Given the description of an element on the screen output the (x, y) to click on. 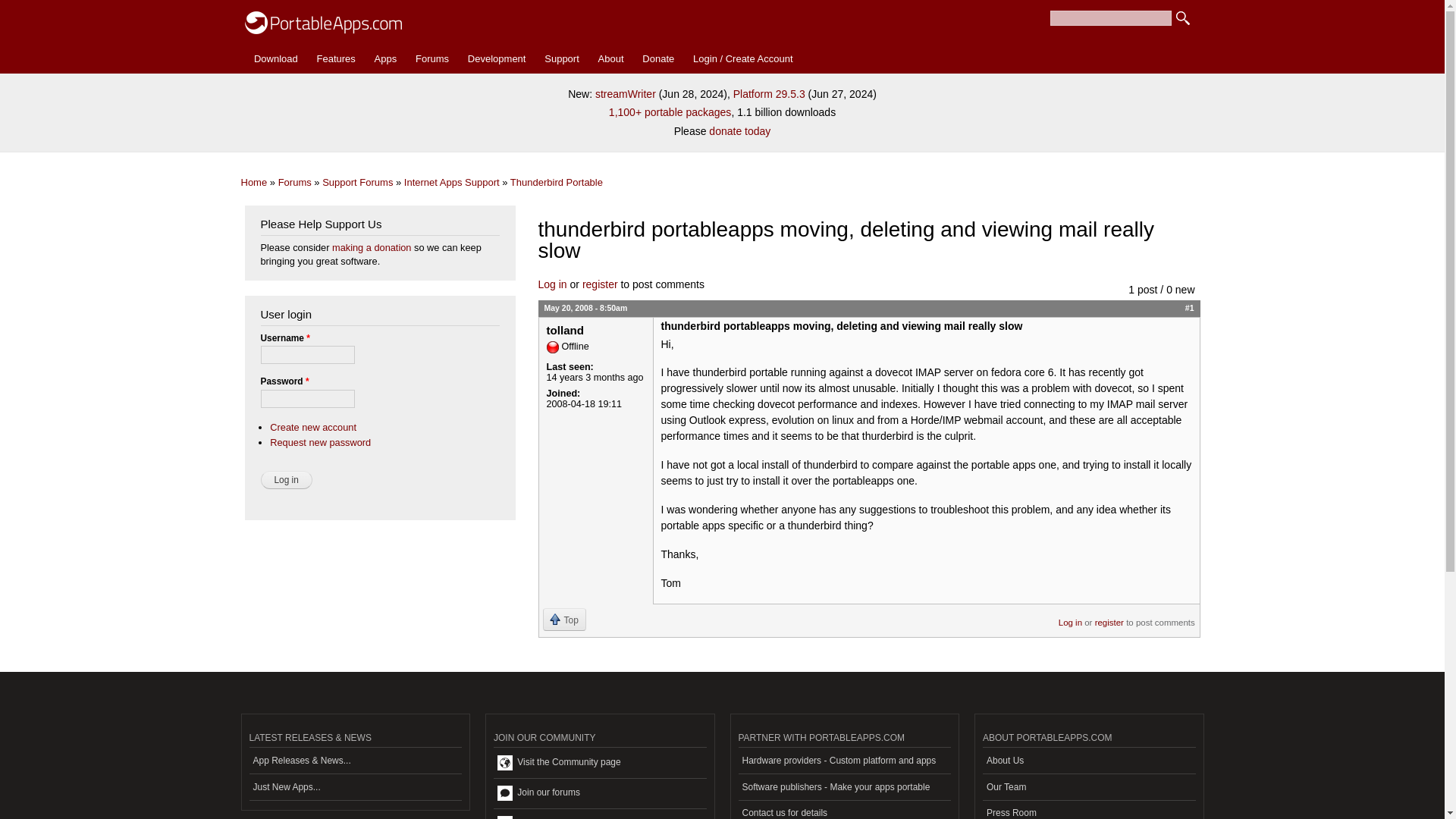
Home (254, 182)
Log in (286, 479)
Skip to main content (690, 1)
Request new password via e-mail. (320, 441)
donate today (739, 131)
Log in (552, 284)
Forums (294, 182)
About (610, 59)
Log in (286, 479)
streamWriter (625, 93)
making a donation (370, 247)
Development (496, 59)
Email Newsletter (599, 814)
Portable App Directory (385, 59)
Donate (658, 59)
